Given the description of an element on the screen output the (x, y) to click on. 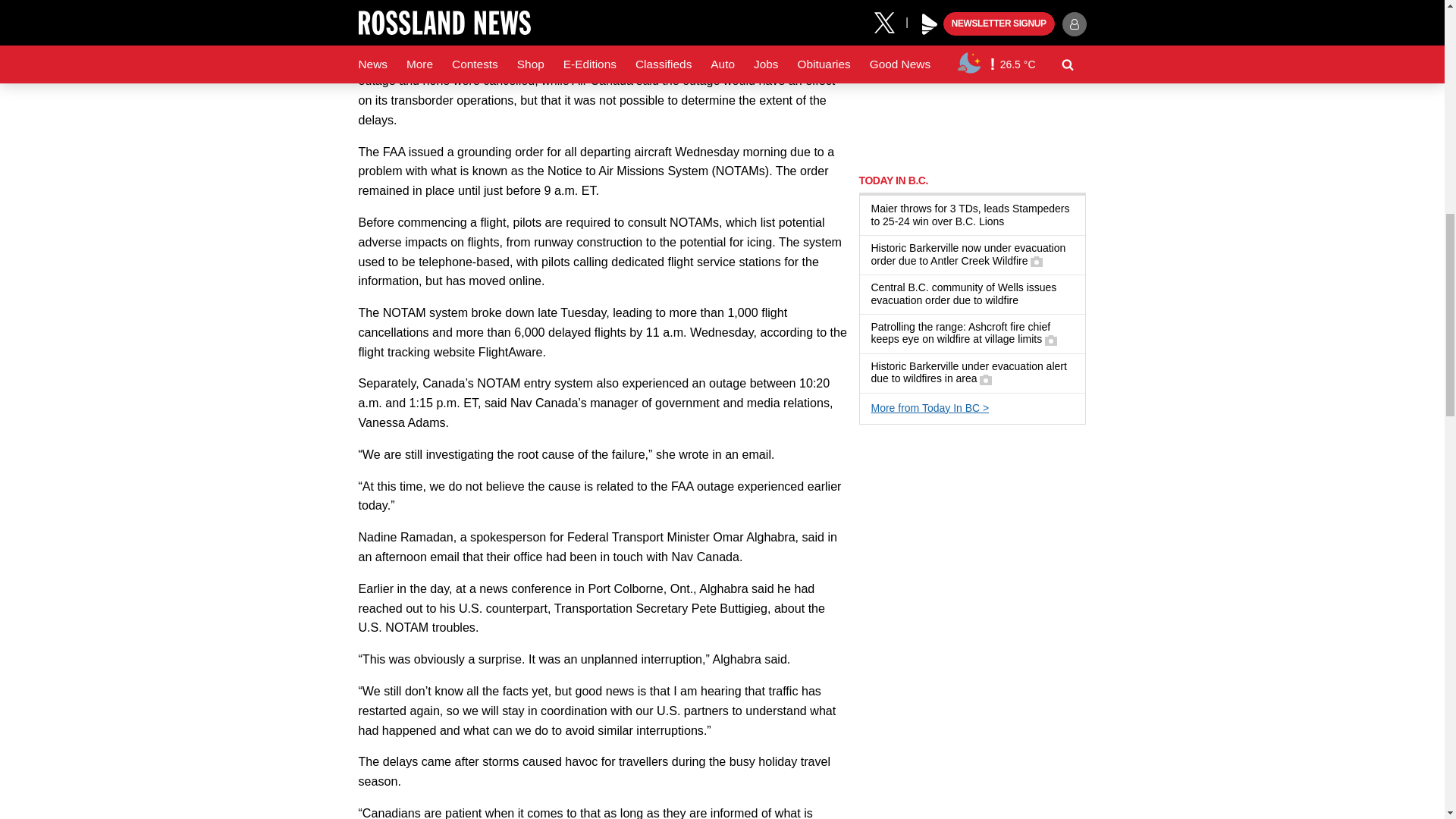
Has a gallery (1051, 340)
Has a gallery (985, 379)
Has a gallery (1036, 261)
